Given the description of an element on the screen output the (x, y) to click on. 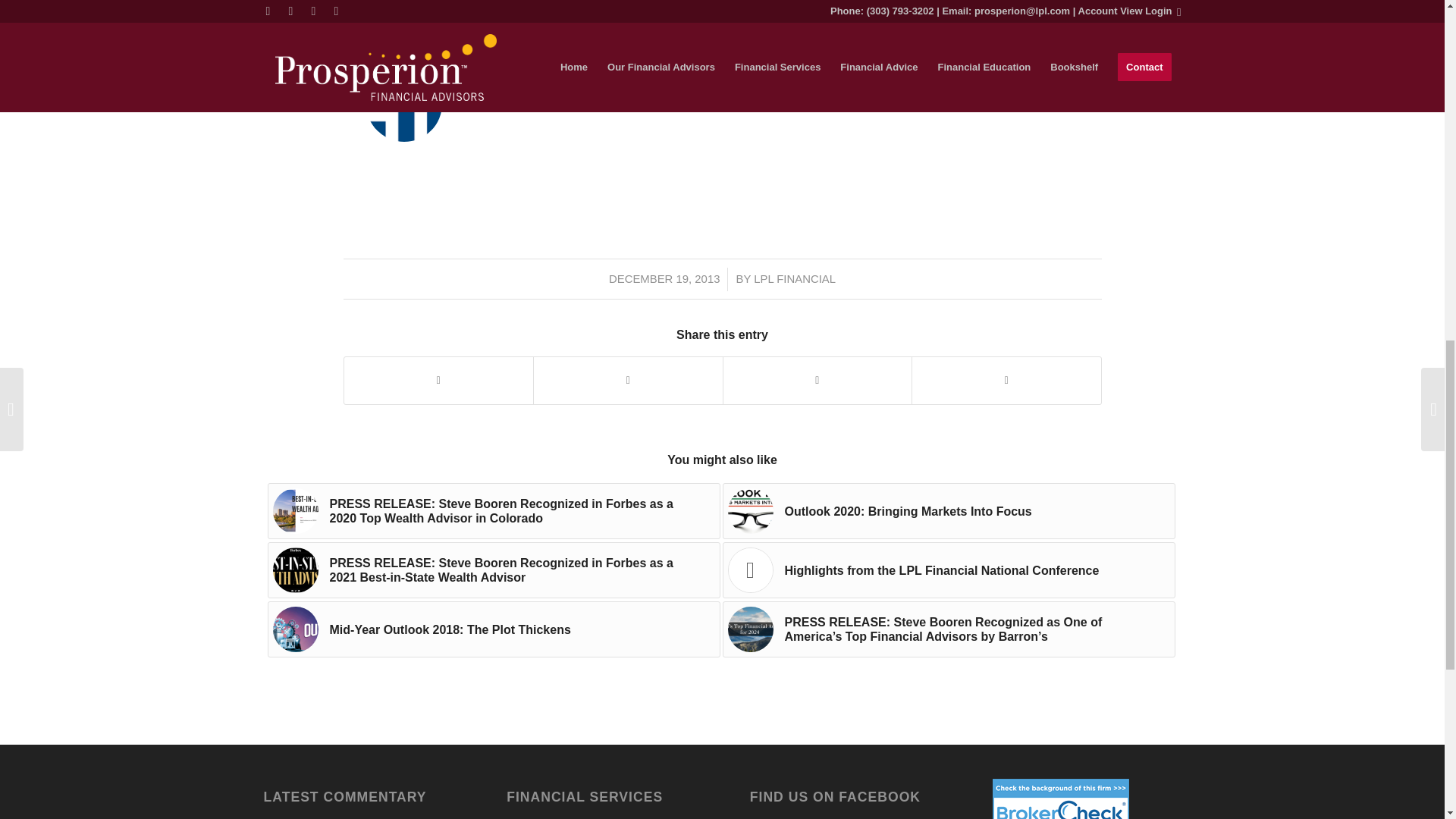
Posts by LPL Financial (794, 278)
Outlook 2014  (406, 15)
steve-booren-forbes-top-advisor (295, 510)
Outlook 2020: Bringing Markets Into Focus (948, 510)
More posts by LPL Financial (499, 92)
LPL Financial (513, 66)
